Given the description of an element on the screen output the (x, y) to click on. 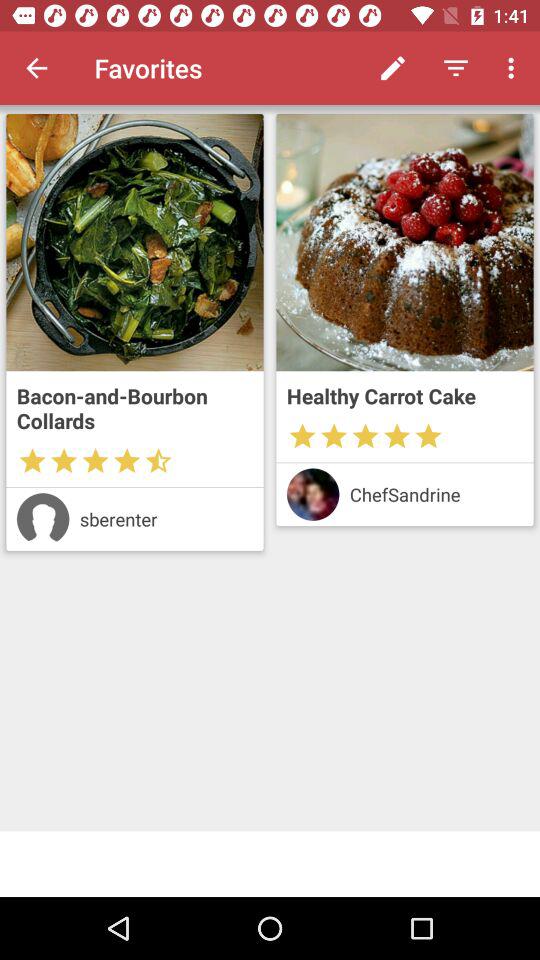
press the item next to the favorites icon (36, 68)
